Given the description of an element on the screen output the (x, y) to click on. 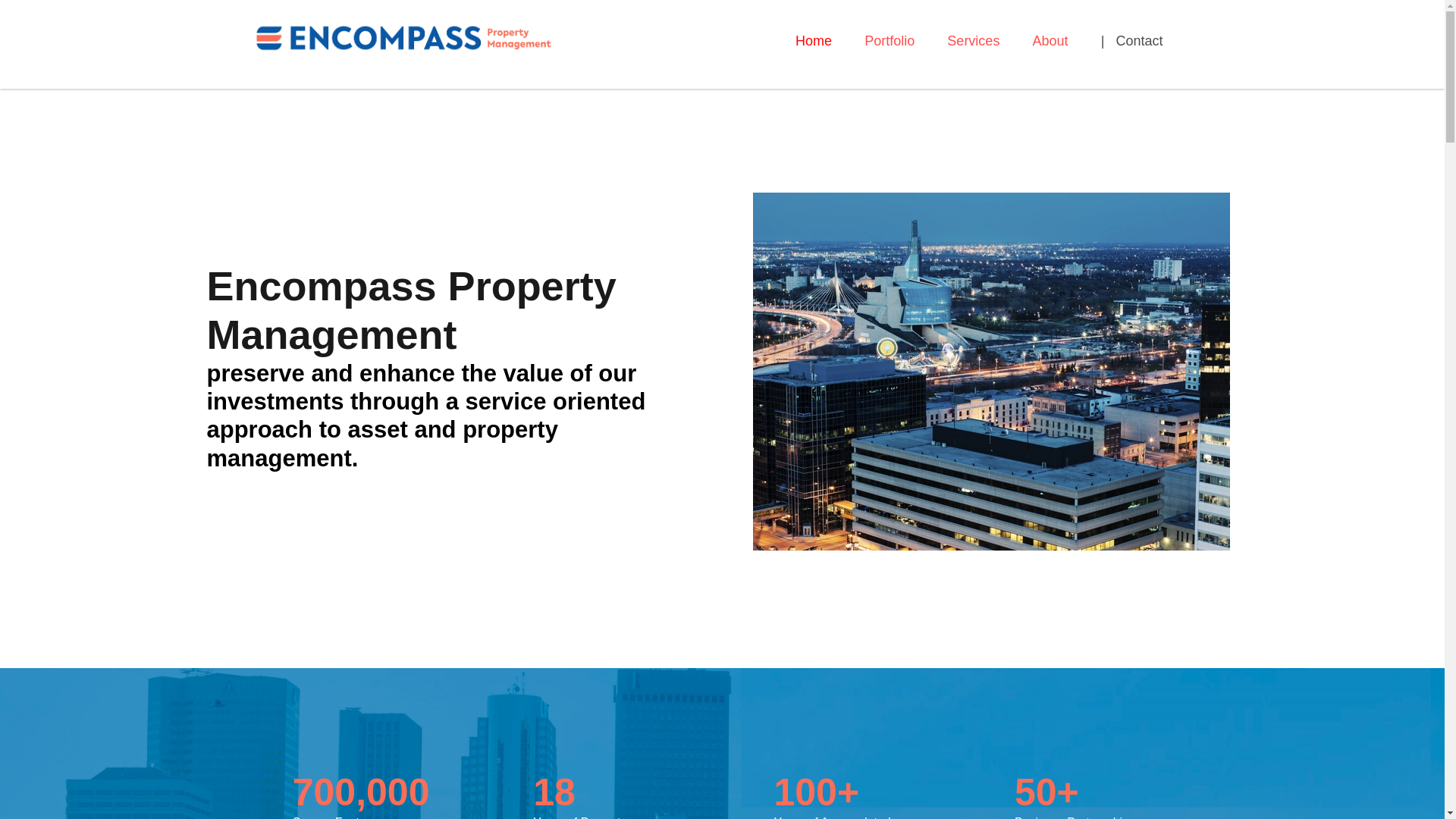
Portfolio (889, 41)
Services (972, 41)
About (1050, 41)
Encompass Properties (402, 36)
Home (812, 41)
